Given the description of an element on the screen output the (x, y) to click on. 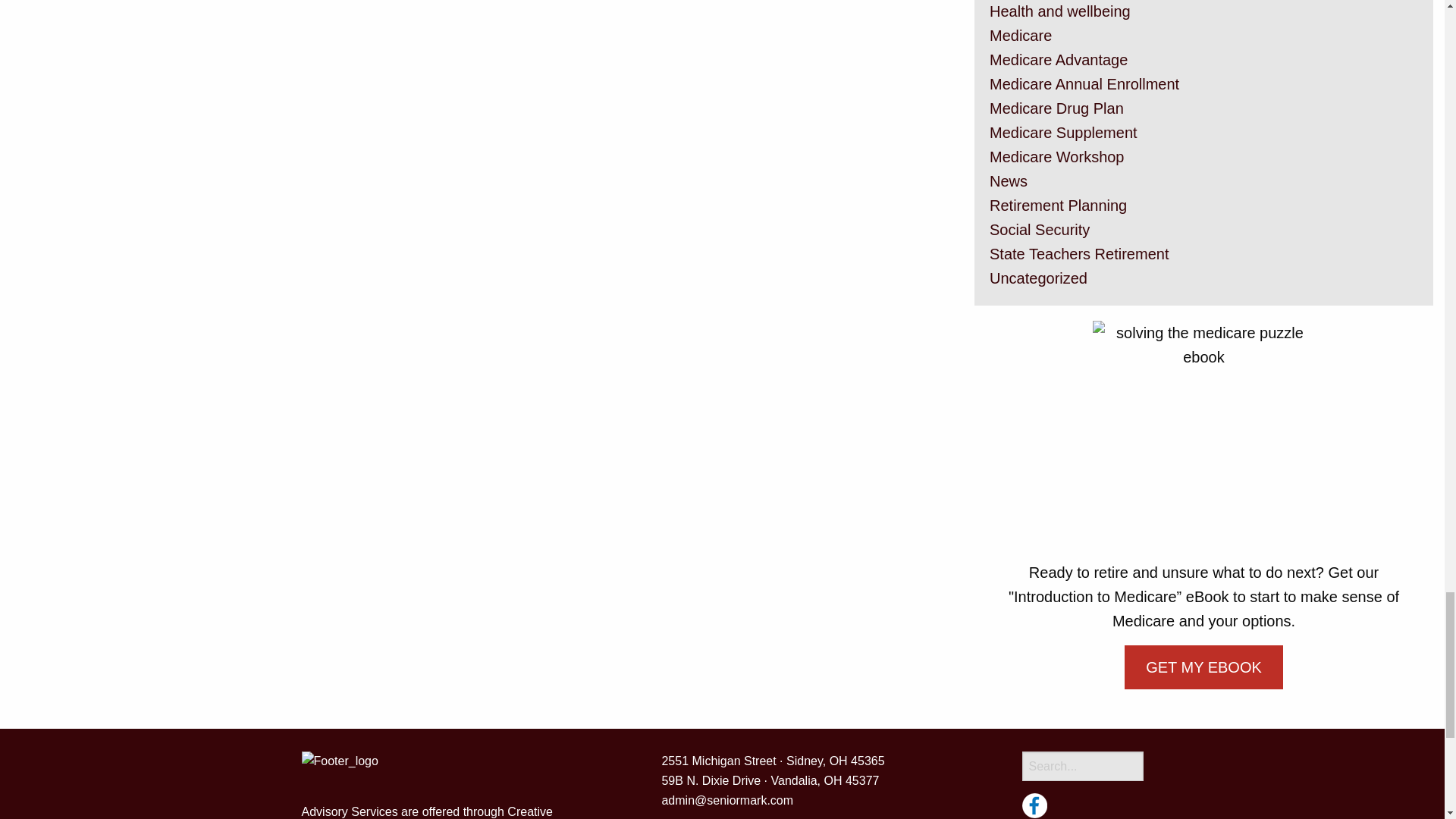
Search for: (1082, 766)
